Given the description of an element on the screen output the (x, y) to click on. 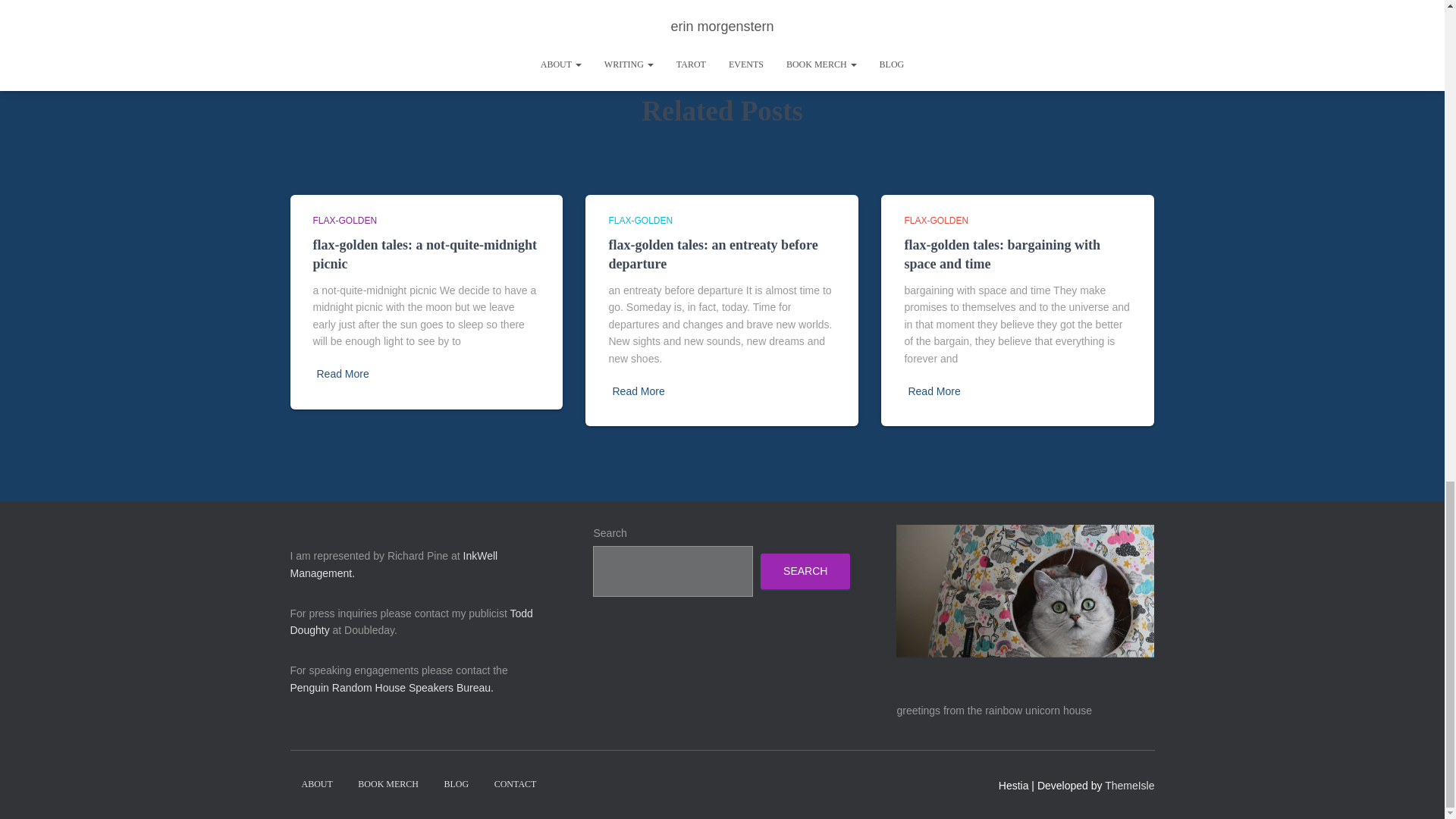
Read More (933, 391)
Read More (637, 391)
Todd Doughty (410, 622)
Read More (343, 374)
flax-golden tales: a not-quite-midnight picnic (425, 254)
FLAX-GOLDEN (345, 220)
InkWell Management. (393, 564)
FLAX-GOLDEN (936, 220)
FLAX-GOLDEN (640, 220)
flax-golden tales: bargaining with space and time (1002, 254)
flax-golden tales: an entreaty before departure (712, 254)
